Given the description of an element on the screen output the (x, y) to click on. 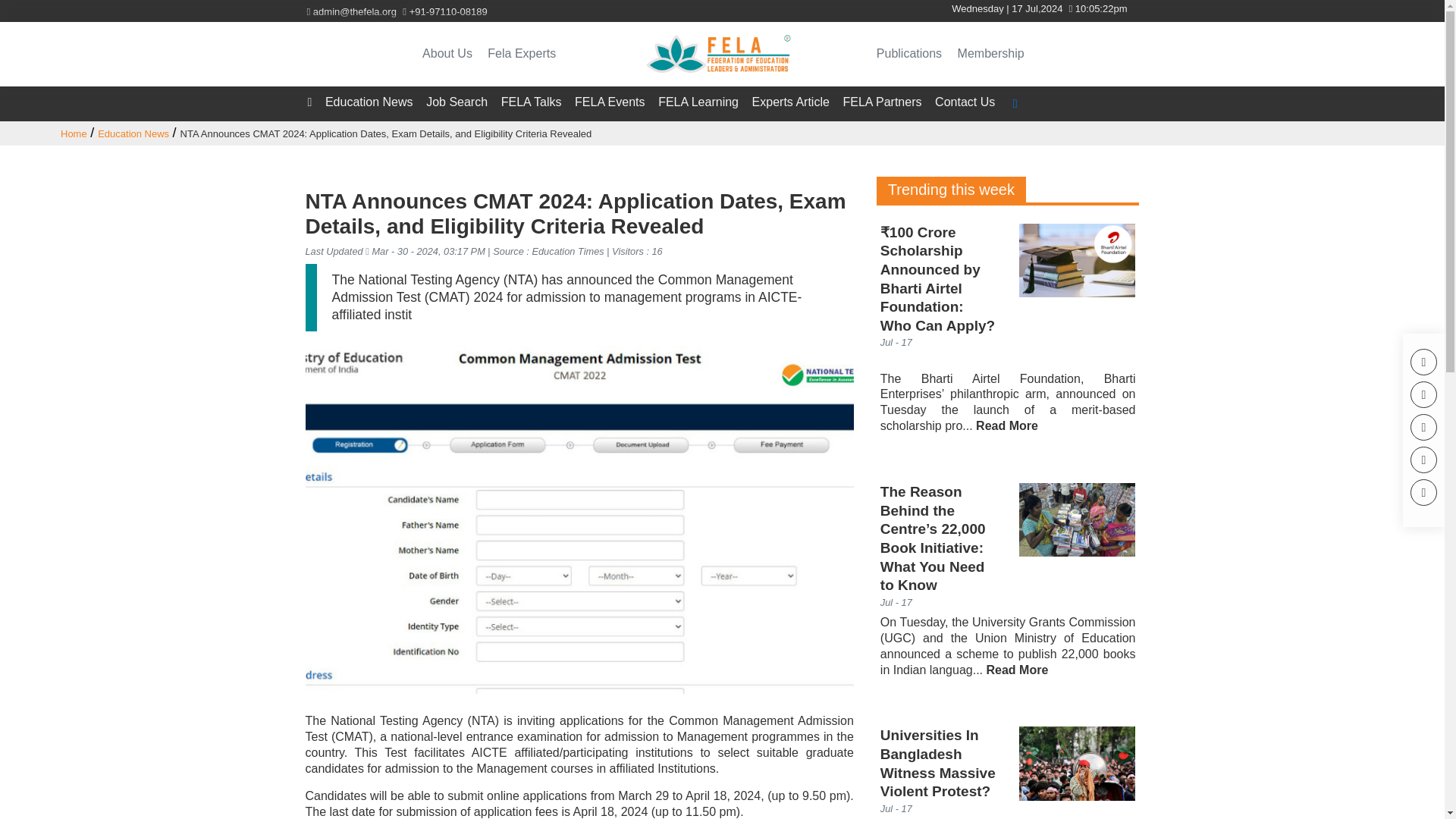
Home (74, 133)
Universities In Bangladesh Witness Massive Violent Protest? (1077, 763)
Education News (369, 102)
Job Search (457, 102)
Read More (1006, 426)
Fela Foundation (721, 54)
Membership (997, 52)
Read More (1016, 670)
Universities In Bangladesh Witness Massive Violent Protest? (937, 763)
About Us (453, 52)
FELA Events (610, 102)
Education News (132, 133)
FELA Partners (881, 102)
